Given the description of an element on the screen output the (x, y) to click on. 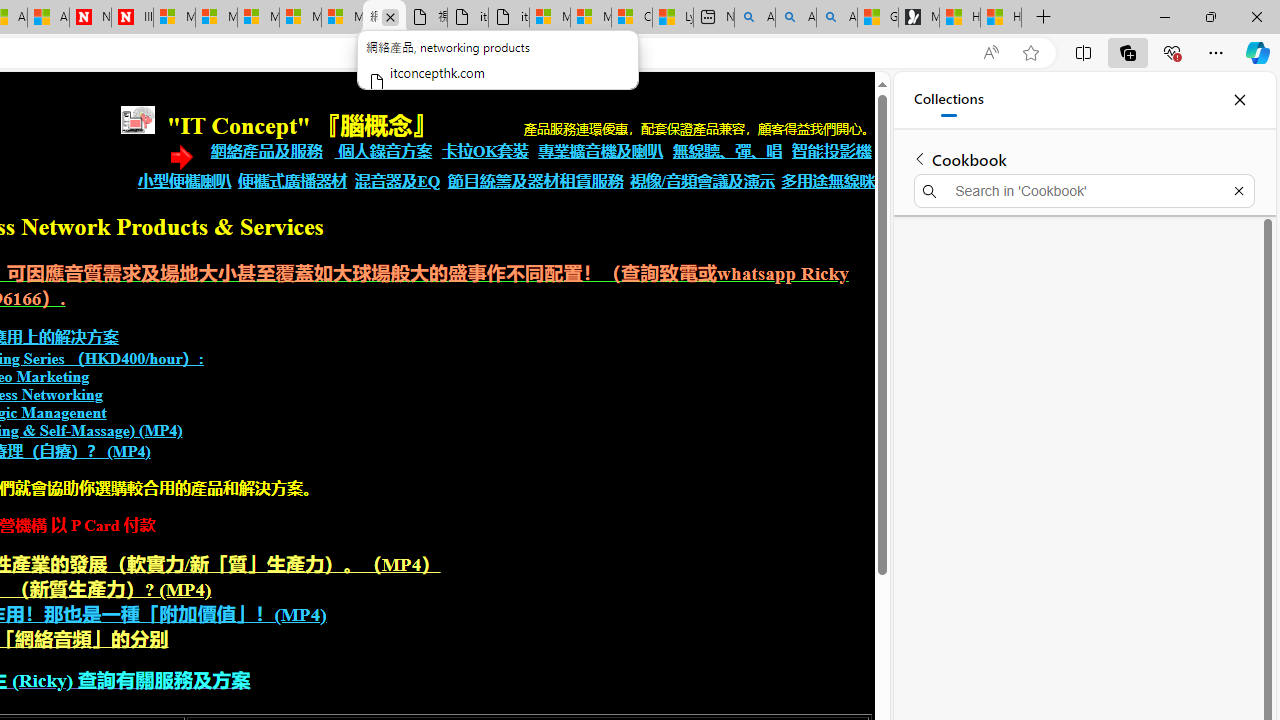
Back to list of collections (920, 158)
Alabama high school quarterback dies - Search (754, 17)
Illness news & latest pictures from Newsweek.com (132, 17)
Newsweek - News, Analysis, Politics, Business, Technology (90, 17)
